Given the description of an element on the screen output the (x, y) to click on. 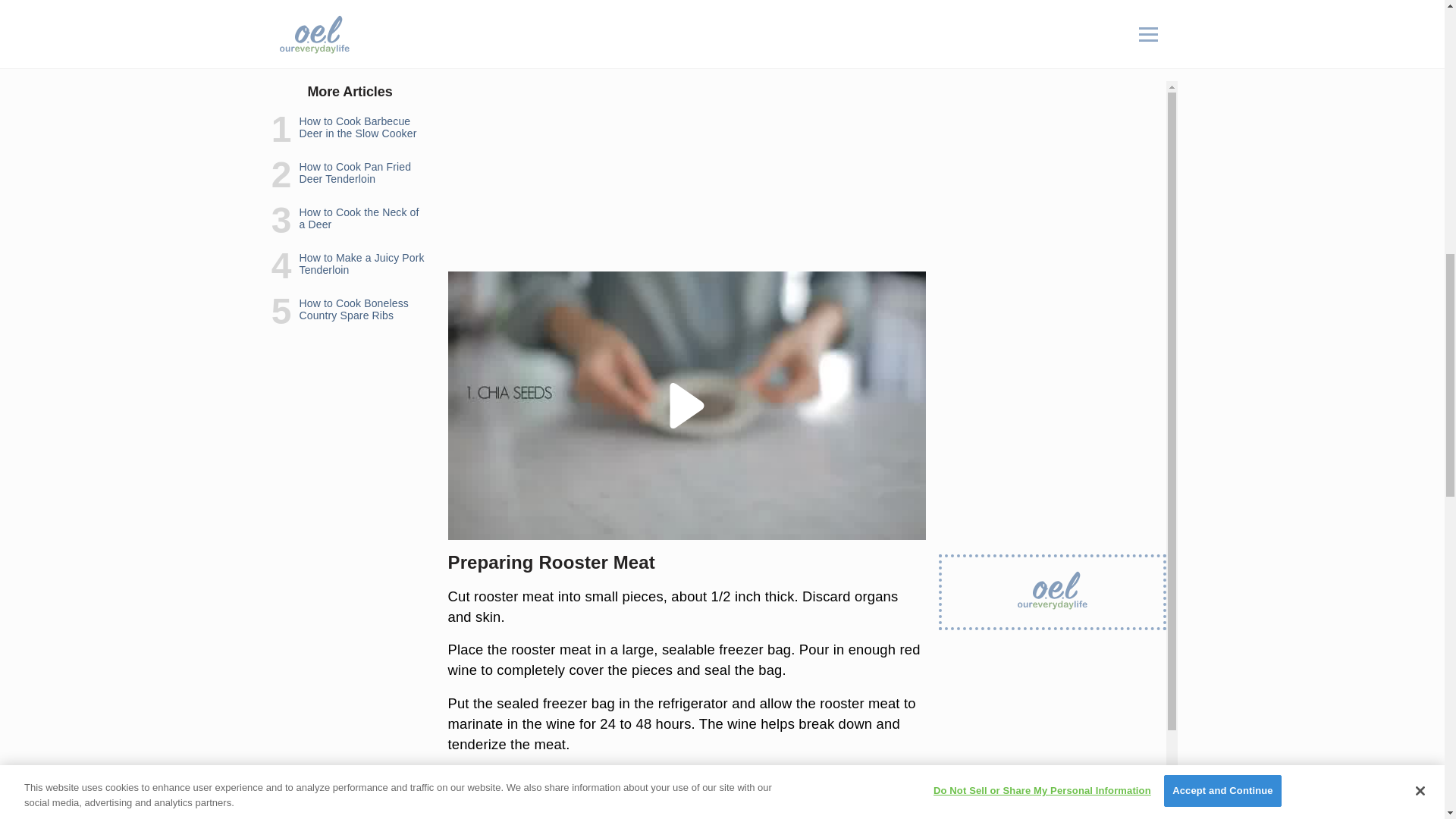
Advertisement (686, 152)
3rd party ad content (1052, 54)
3rd party ad content (686, 11)
